Given the description of an element on the screen output the (x, y) to click on. 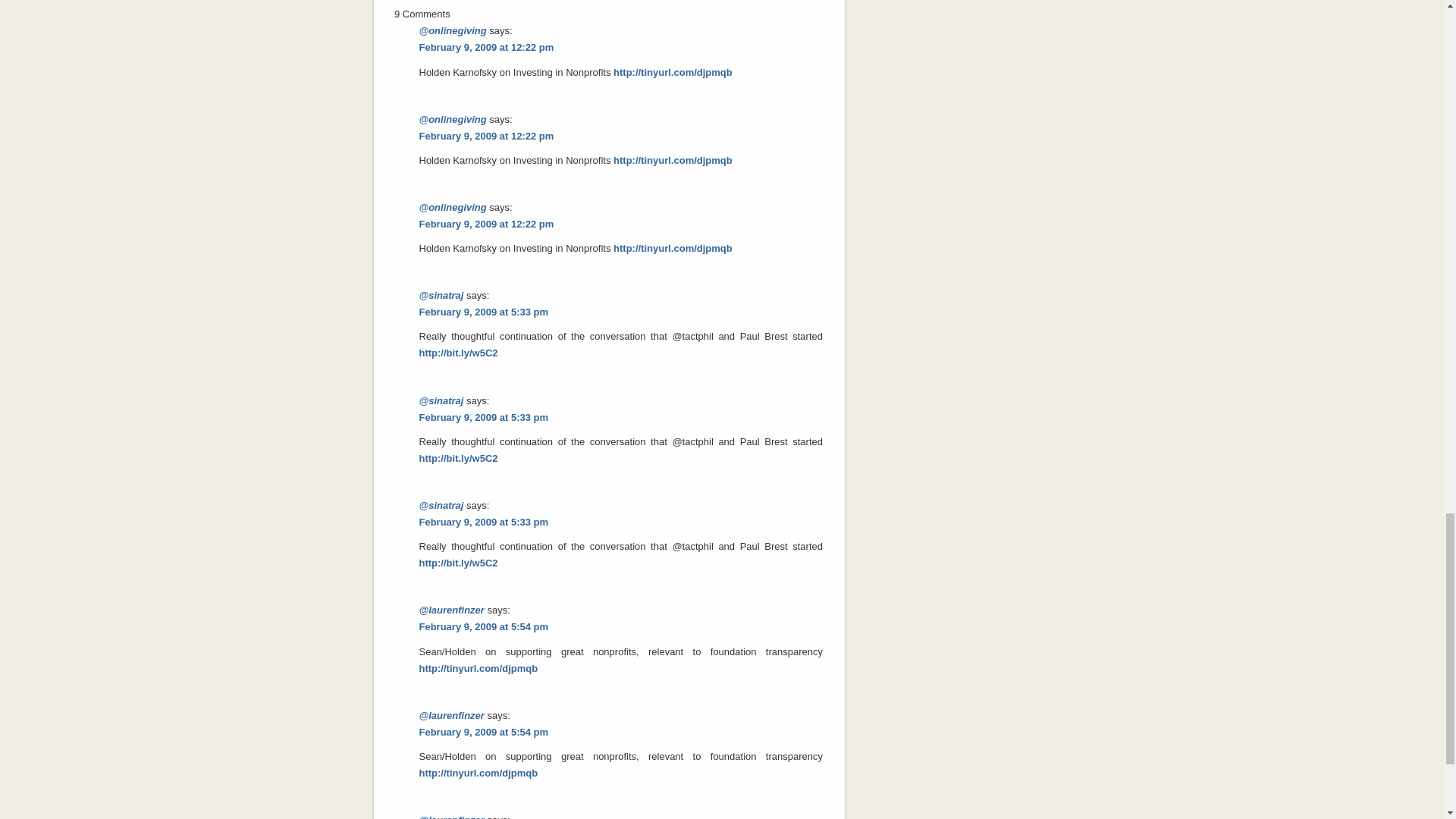
February 9, 2009 at 12:22 pm (486, 135)
February 9, 2009 at 5:33 pm (483, 417)
February 9, 2009 at 5:33 pm (483, 311)
February 9, 2009 at 12:22 pm (486, 47)
February 9, 2009 at 12:22 pm (486, 224)
